Given the description of an element on the screen output the (x, y) to click on. 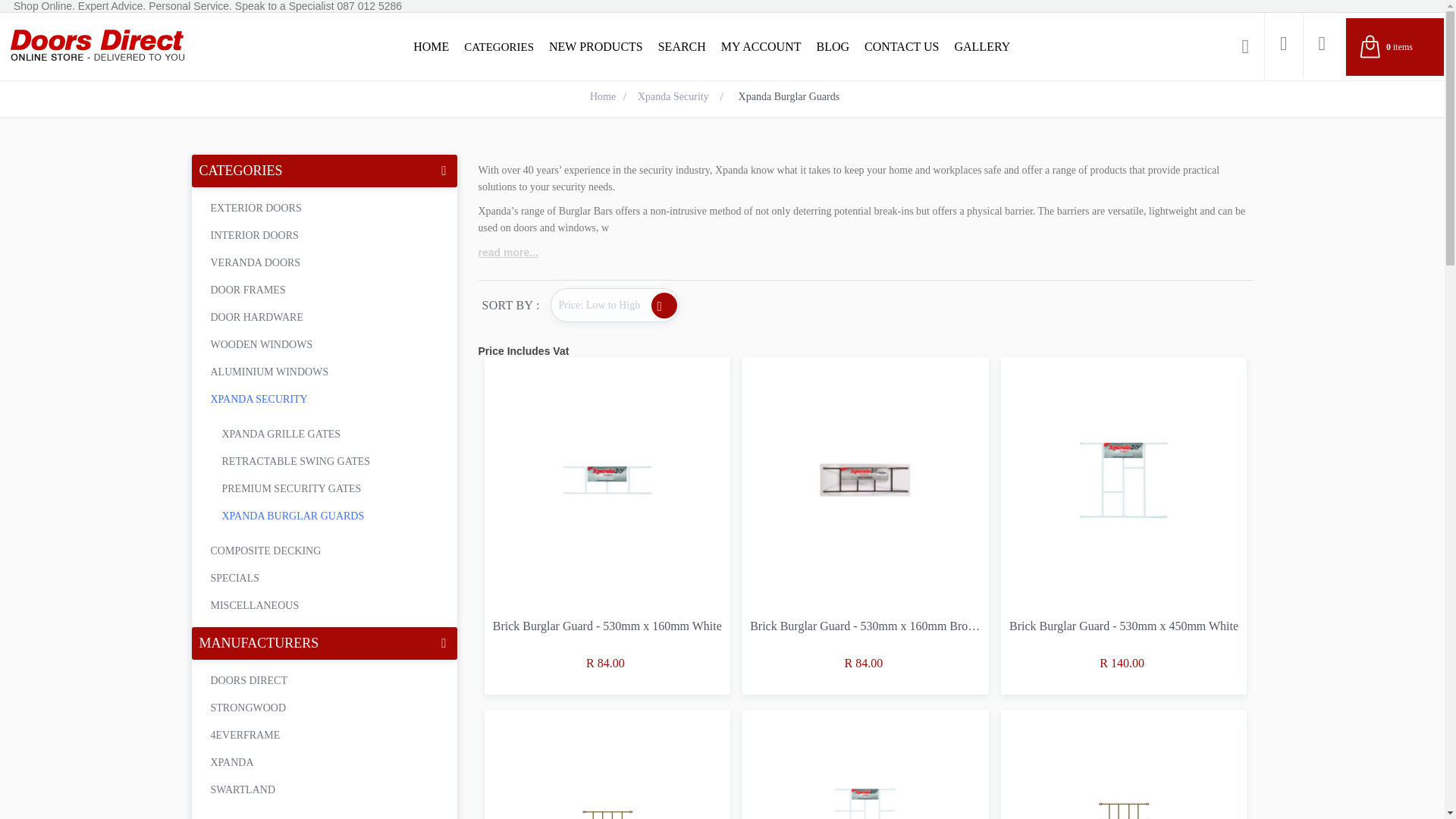
Show details for Brick Burglar Guard - 530mm x 450mm Bronze (606, 764)
CATEGORIES (499, 45)
Xpanda Security (673, 96)
Show details for Brick Burglar Guard - 530mm x 160mm Bronze (866, 480)
HOME (431, 45)
Shopping cart (1394, 46)
Show details for Brick Burglar Guard - 530mm x 160mm Bronze (865, 480)
Show details for Brick Burglar Guard - 530mm x 450mm Bronze (607, 803)
Show details for Brick Burglar Guard - 530mm x 450mm White (1123, 479)
Home (602, 96)
Show details for Brick Burglar Guard - 530mm x 450mm White (1124, 480)
Show details for Brick Burglar Guard - 530mm x 160mm White (606, 480)
Show details for Brick Burglar Guard - 530mm x 160mm White (607, 480)
